Given the description of an element on the screen output the (x, y) to click on. 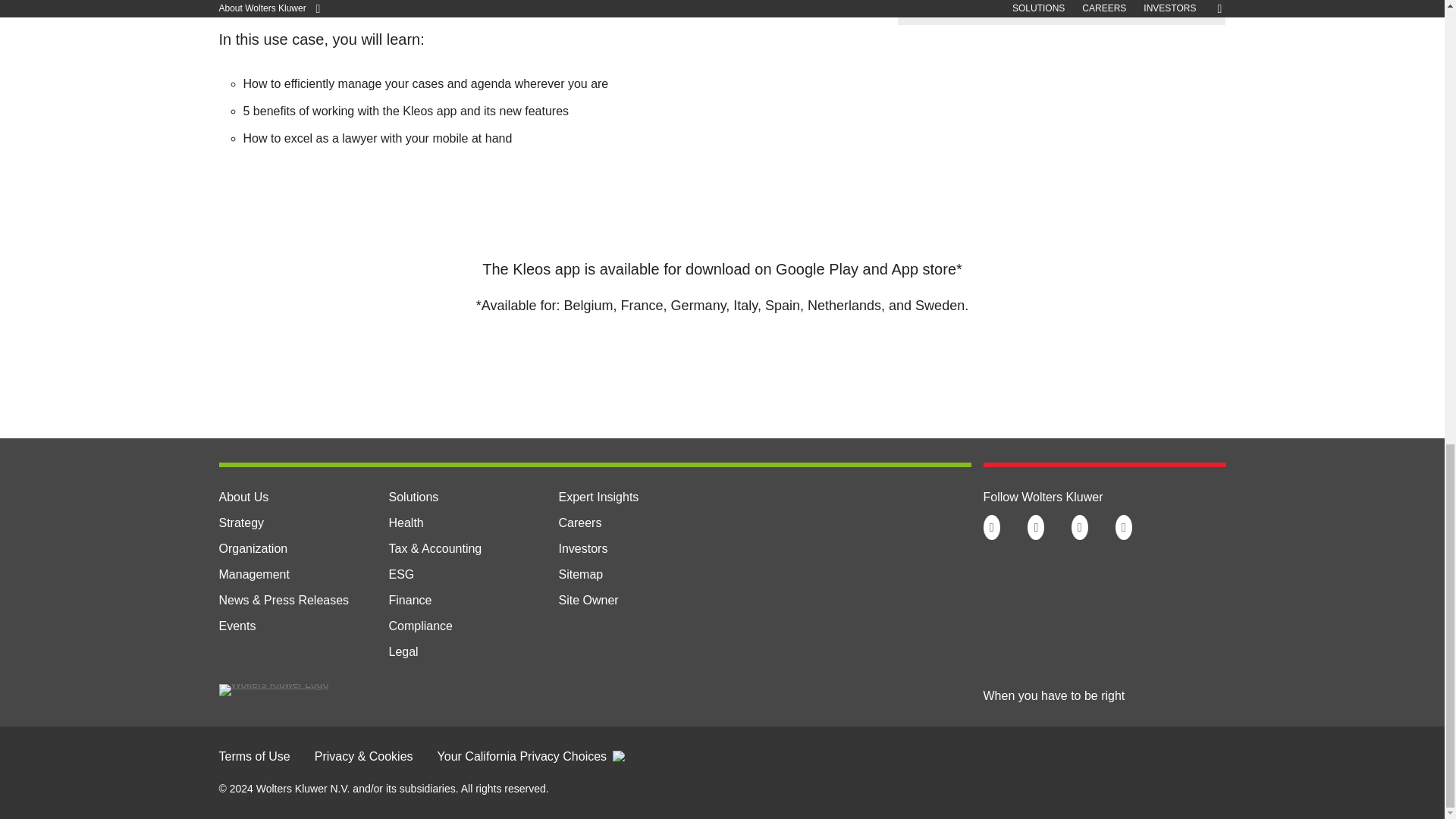
Site Owner (587, 599)
Wolters Kluwer Logo (273, 684)
WK Logo (273, 689)
Image 2 (286, 2)
ESG (400, 574)
